Given the description of an element on the screen output the (x, y) to click on. 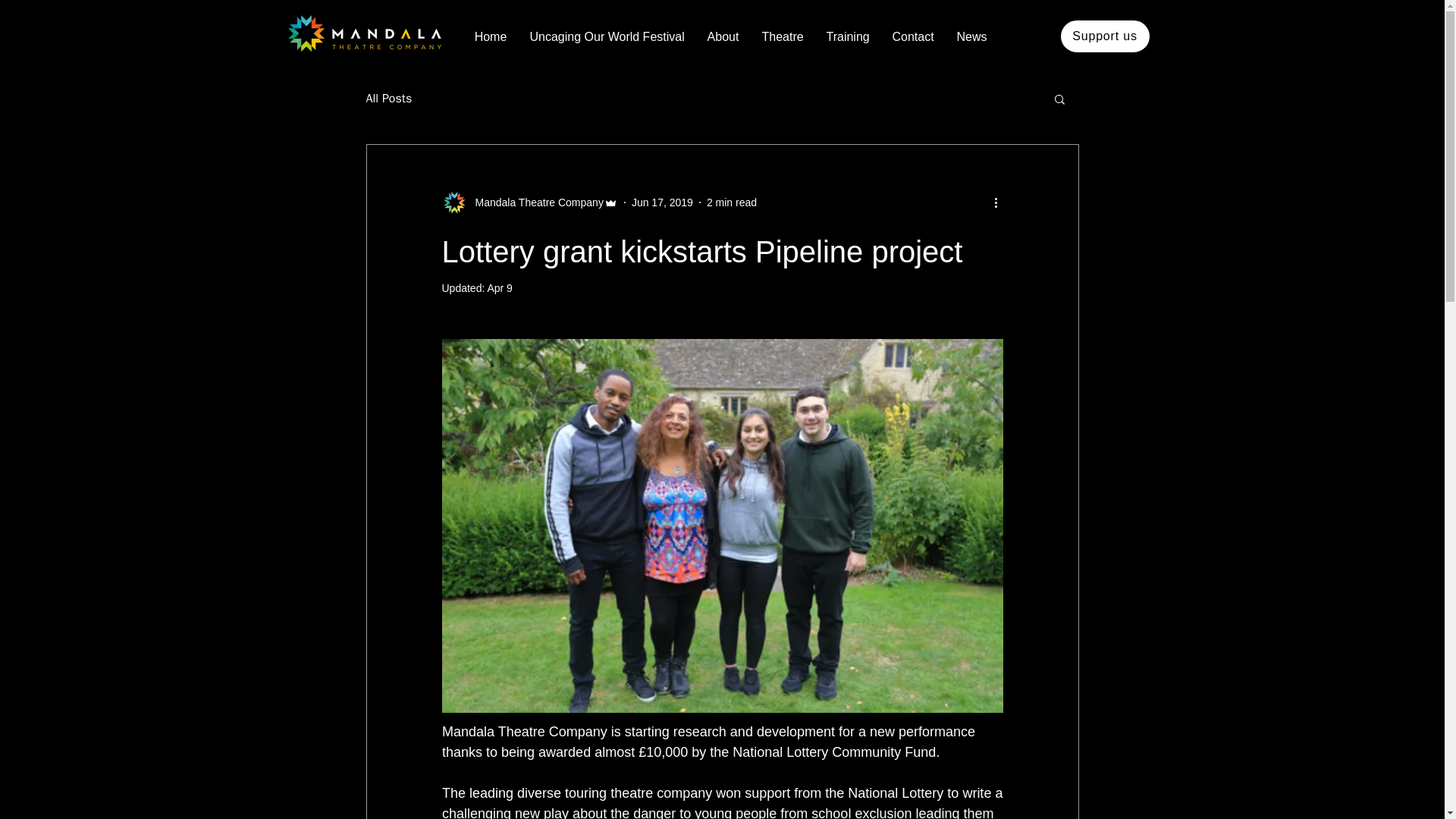
Contact (912, 36)
Mandala Theatre Company (529, 202)
2 min read (731, 201)
Jun 17, 2019 (662, 201)
Apr 9 (499, 287)
Theatre (783, 36)
Home (490, 36)
About (723, 36)
All Posts (388, 98)
Mandala Theatre Company (533, 201)
News (970, 36)
Uncaging Our World Festival (606, 36)
ML.webp (363, 33)
Support us (1103, 36)
